Given the description of an element on the screen output the (x, y) to click on. 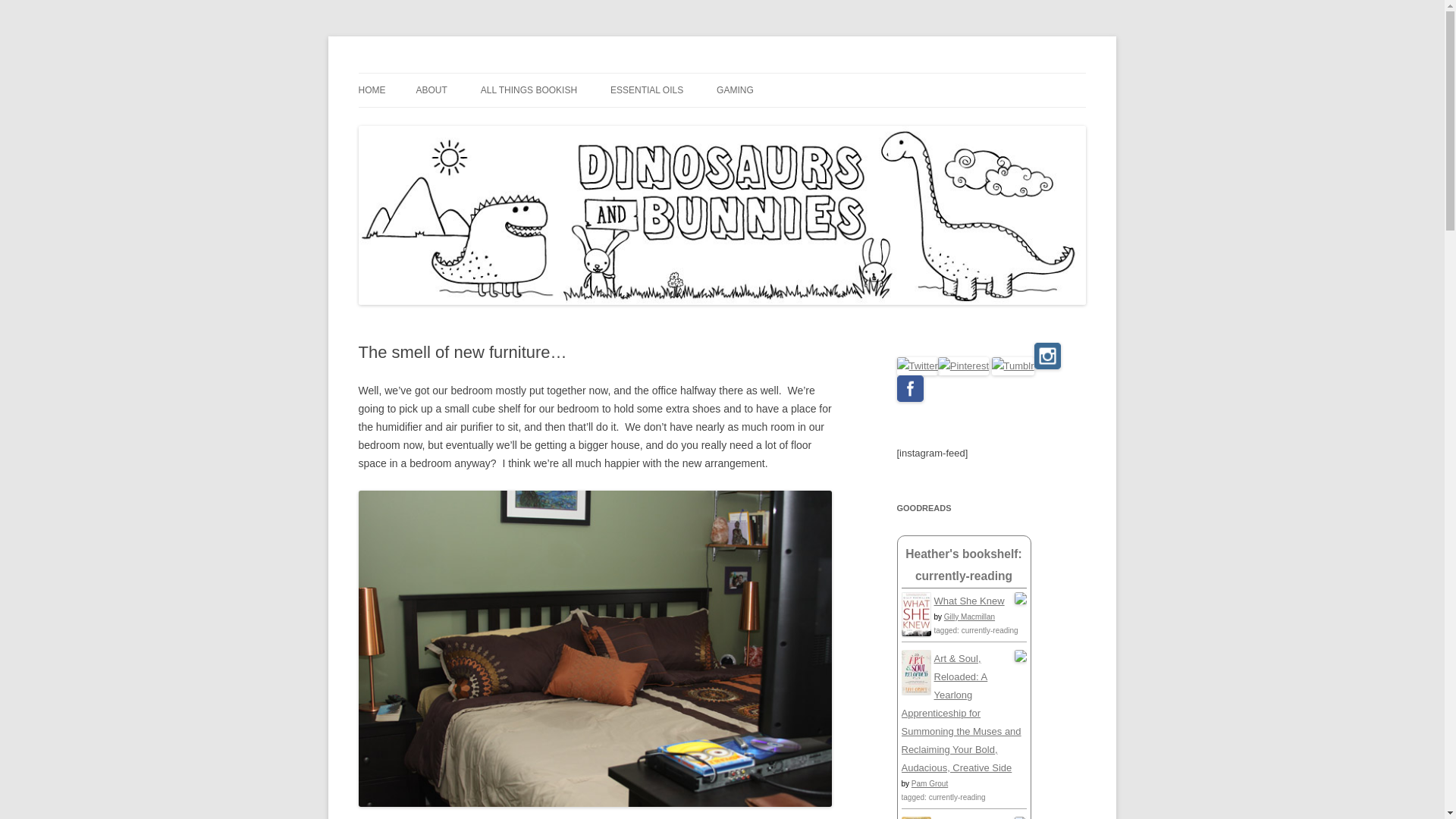
ALL THINGS BOOKISH (528, 90)
Pam Grout (929, 783)
Pinterest (962, 366)
Facebook (909, 388)
ABOUT (430, 90)
GAMING (735, 90)
What She Knew (969, 600)
Twitter (916, 366)
Gilly Macmillan (968, 616)
